Given the description of an element on the screen output the (x, y) to click on. 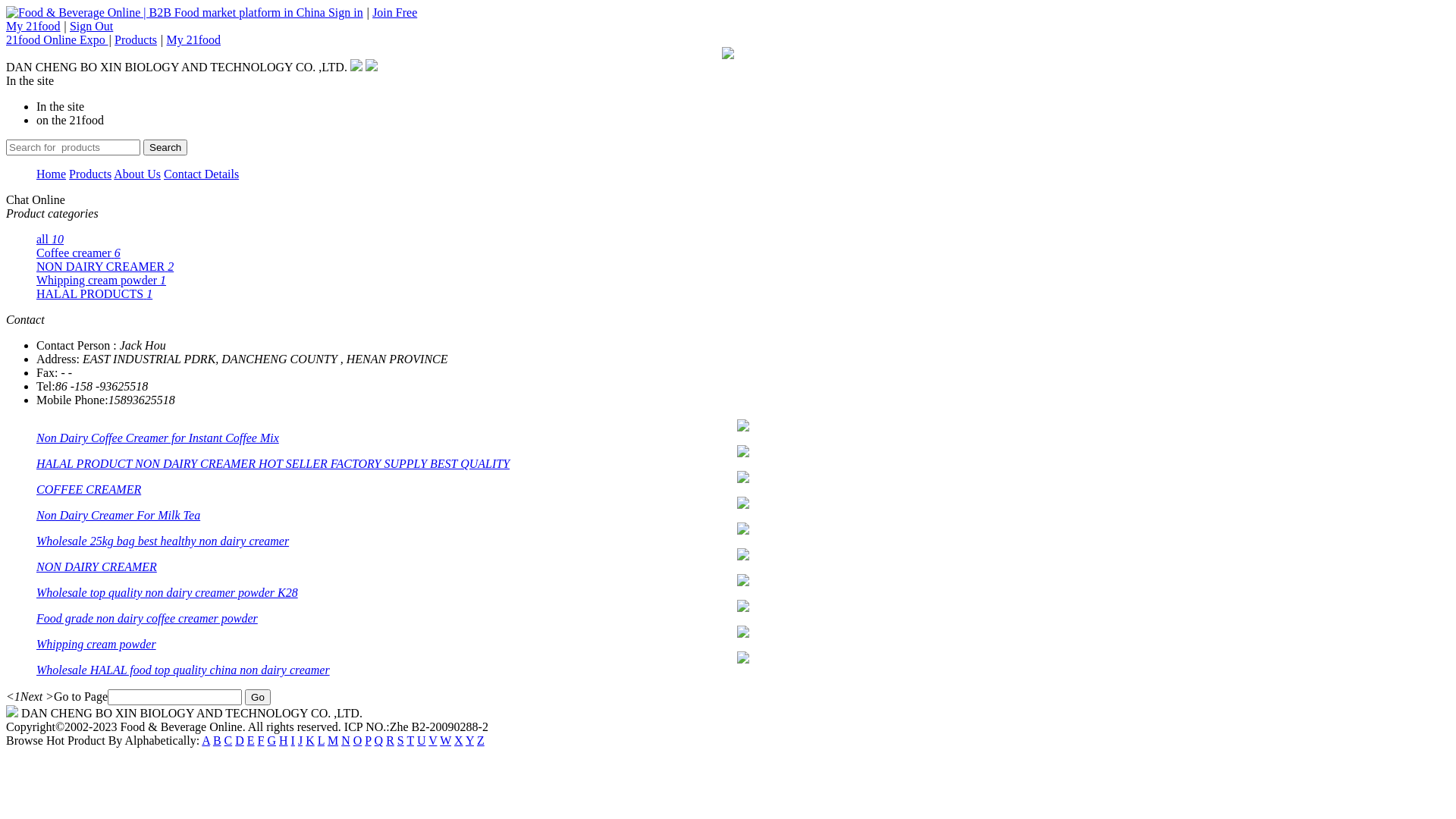
Y Element type: text (469, 740)
P Element type: text (367, 740)
L Element type: text (320, 740)
Coffee creamer 6 Element type: text (78, 252)
My 21food Element type: text (193, 39)
Contact Details Element type: text (200, 173)
Products Element type: text (135, 39)
Home Element type: text (50, 173)
Whipping cream powder Element type: text (96, 643)
C Element type: text (228, 740)
J Element type: text (300, 740)
Join Free Element type: text (394, 12)
T Element type: text (409, 740)
R Element type: text (389, 740)
H Element type: text (283, 740)
V Element type: text (432, 740)
NON DAIRY CREAMER Element type: text (96, 566)
About Us Element type: text (136, 173)
Go Element type: text (257, 697)
O Element type: text (357, 740)
Whipping cream powder 1 Element type: text (101, 279)
F Element type: text (260, 740)
A Element type: text (205, 740)
HALAL PRODUCTS 1 Element type: text (94, 293)
M Element type: text (332, 740)
N Element type: text (345, 740)
W Element type: text (445, 740)
G Element type: text (271, 740)
COFFEE CREAMER Element type: text (88, 489)
Food grade non dairy coffee creamer powder Element type: text (146, 617)
21food Online Expo Element type: text (57, 39)
My 21food Element type: text (33, 25)
Non Dairy Coffee Creamer for Instant Coffee Mix Element type: text (157, 437)
B Element type: text (217, 740)
Q Element type: text (378, 740)
Wholesale 25kg bag best healthy non dairy creamer Element type: text (162, 540)
Wholesale HALAL food top quality china non dairy creamer Element type: text (182, 669)
Products Element type: text (90, 173)
U Element type: text (421, 740)
all 10 Element type: text (49, 238)
Sign in Element type: text (345, 12)
Wholesale top quality non dairy creamer powder K28 Element type: text (167, 592)
Search Element type: text (165, 147)
I Element type: text (292, 740)
Sign Out Element type: text (90, 25)
NON DAIRY CREAMER 2 Element type: text (104, 266)
D Element type: text (239, 740)
Z Element type: text (480, 740)
S Element type: text (400, 740)
E Element type: text (250, 740)
Non Dairy Creamer For Milk Tea Element type: text (118, 514)
X Element type: text (458, 740)
K Element type: text (309, 740)
